Given the description of an element on the screen output the (x, y) to click on. 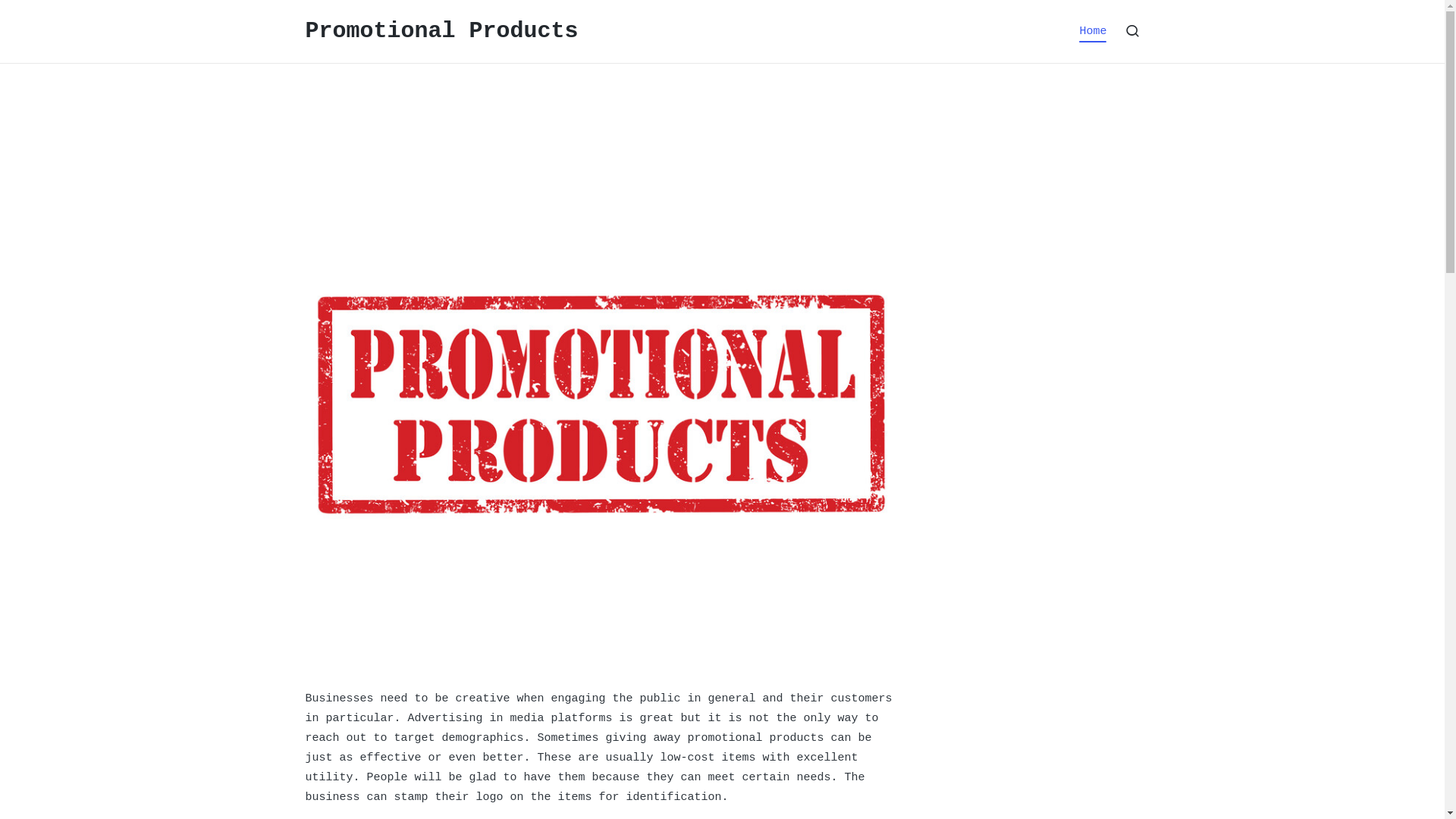
Home Element type: text (1092, 30)
Promotional Products Element type: text (440, 30)
